Given the description of an element on the screen output the (x, y) to click on. 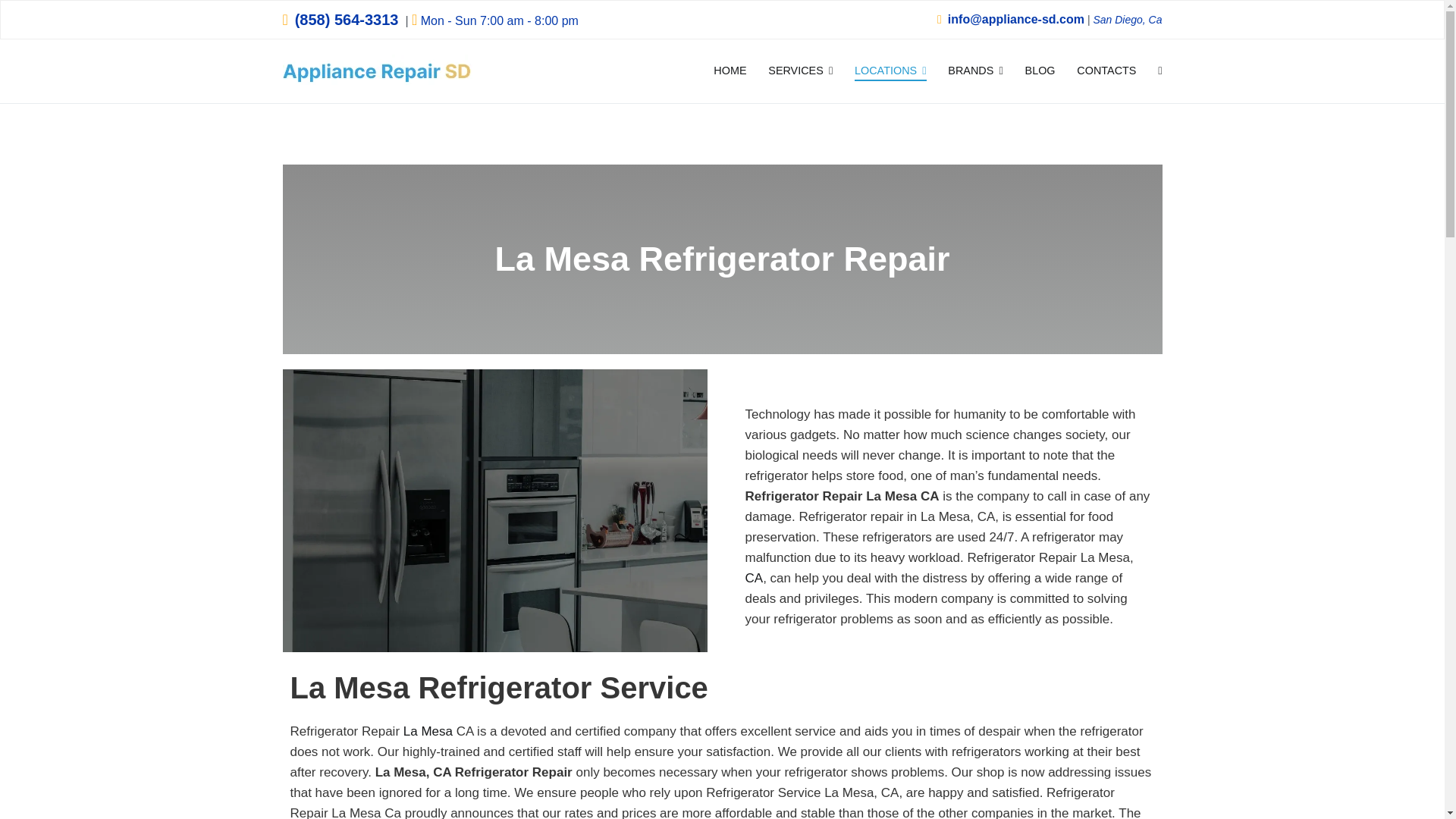
Appliance Repair SD (553, 81)
San Diego, Ca (1127, 19)
SERVICES (800, 71)
LOCATIONS (890, 71)
HOME (729, 71)
